Given the description of an element on the screen output the (x, y) to click on. 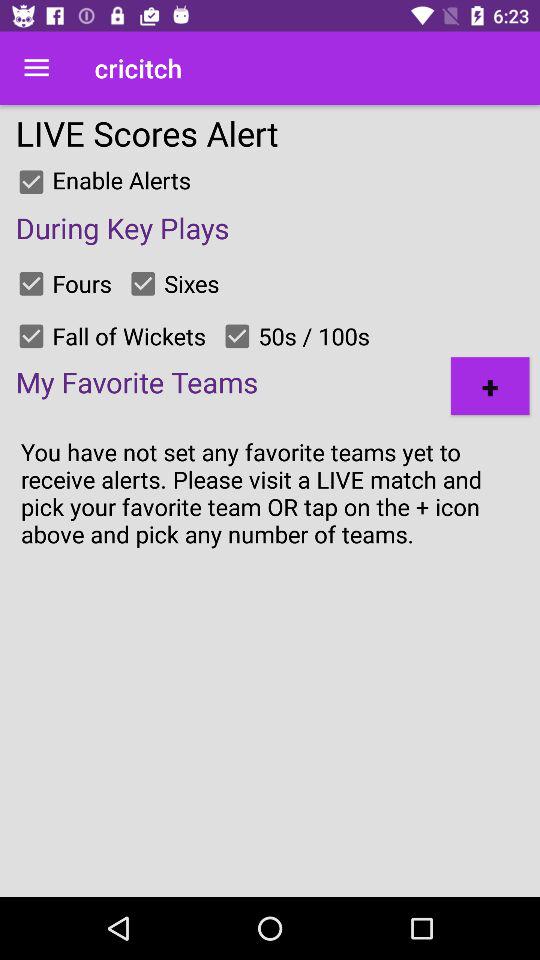
checks a box (143, 283)
